Given the description of an element on the screen output the (x, y) to click on. 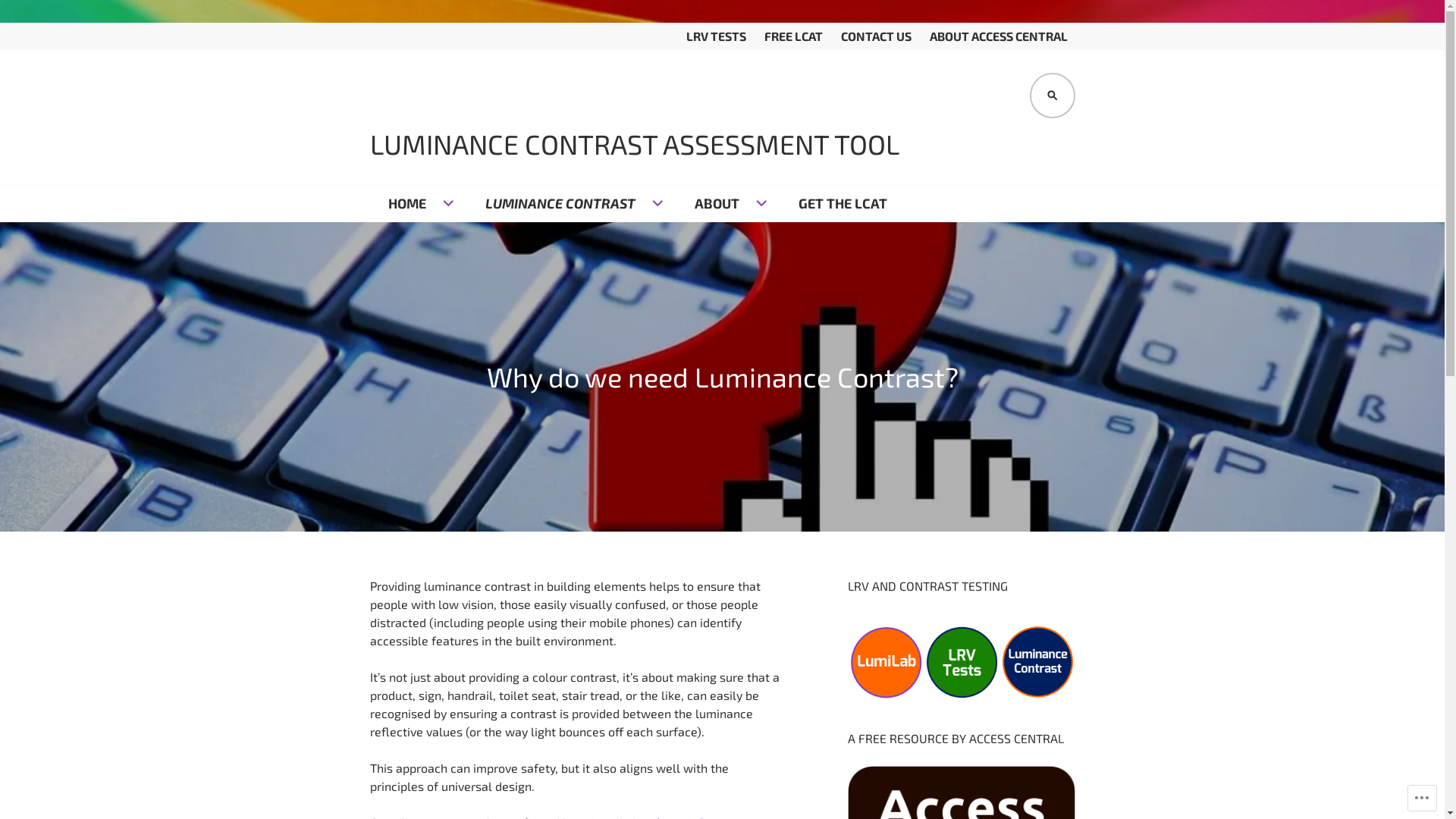
CONTACT US Element type: text (875, 36)
LRV TESTS Element type: text (715, 36)
FREE LCAT Element type: text (793, 36)
LUMINANCE CONTRAST Element type: text (571, 203)
GET THE LCAT Element type: text (841, 203)
HOME Element type: text (418, 203)
LRV Testing Element type: hover (961, 662)
LUMINANCE CONTRAST ASSESSMENT TOOL Element type: text (635, 143)
ABOUT Element type: text (728, 203)
ABOUT ACCESS CENTRAL Element type: text (998, 36)
